Given the description of an element on the screen output the (x, y) to click on. 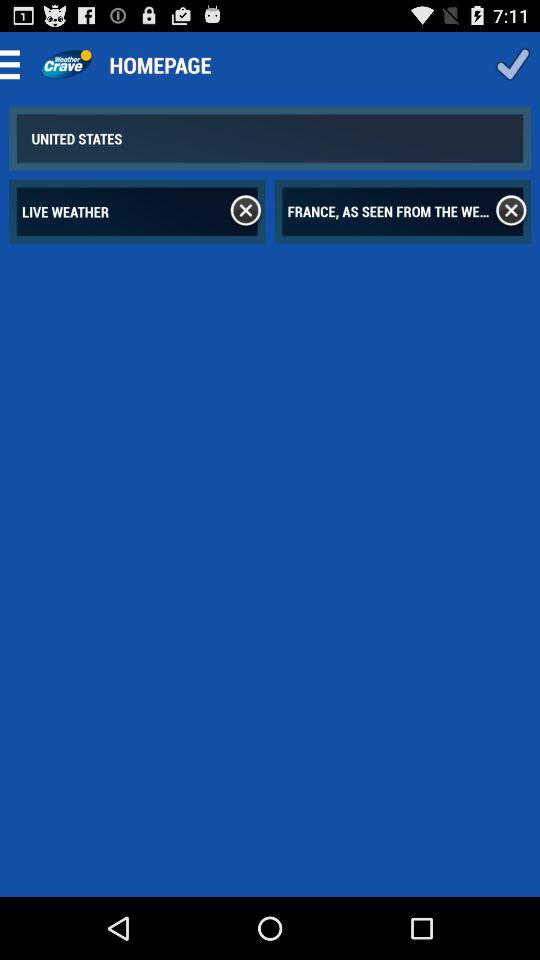
the menu bar (16, 63)
